Given the description of an element on the screen output the (x, y) to click on. 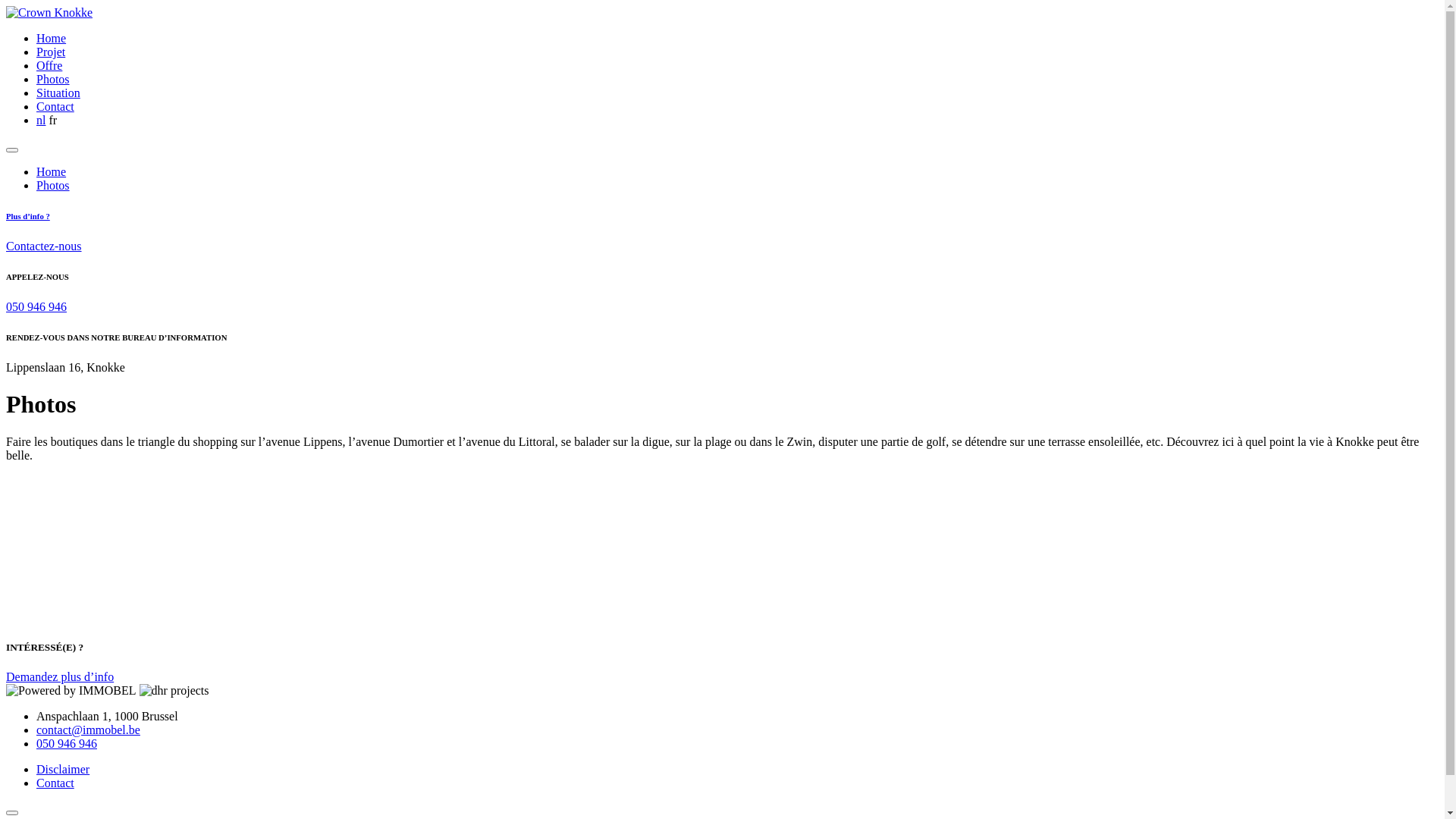
contact@immobel.be Element type: text (88, 729)
Projet Element type: text (50, 51)
Home Element type: text (50, 37)
Offre Element type: text (49, 65)
Disclaimer Element type: text (62, 768)
050 946 946 Element type: text (66, 743)
Home Element type: text (50, 171)
nl Element type: text (40, 119)
Situation Element type: text (58, 92)
050 946 946 Element type: text (36, 306)
Contact Element type: text (55, 106)
Photos Element type: text (52, 184)
Photos Element type: text (52, 78)
Contact Element type: text (55, 782)
